Given the description of an element on the screen output the (x, y) to click on. 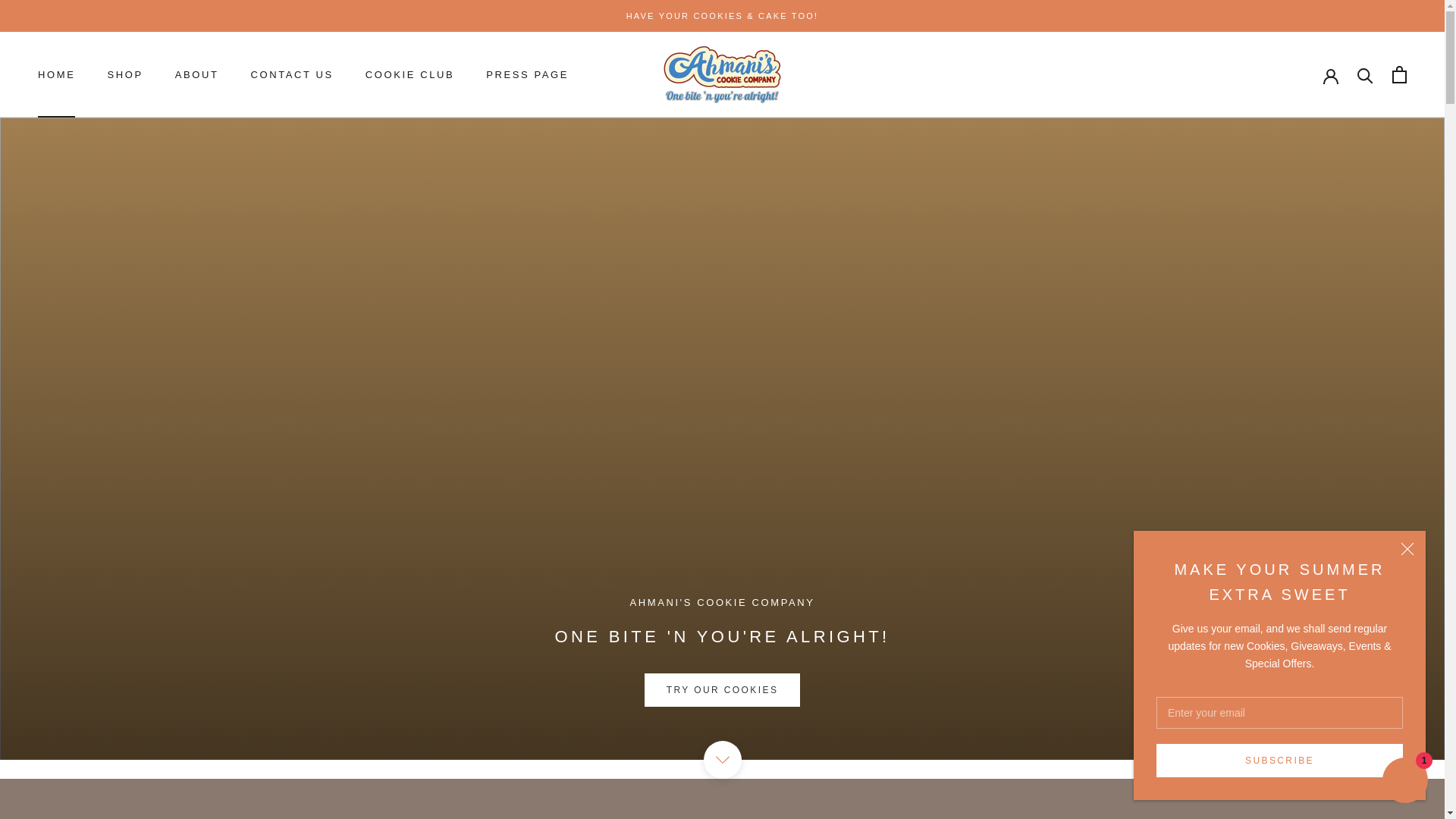
SUBSCRIBE (56, 74)
TRY OUR COOKIES (1279, 760)
ABOUT (722, 689)
Shopify online store chat (527, 74)
